Given the description of an element on the screen output the (x, y) to click on. 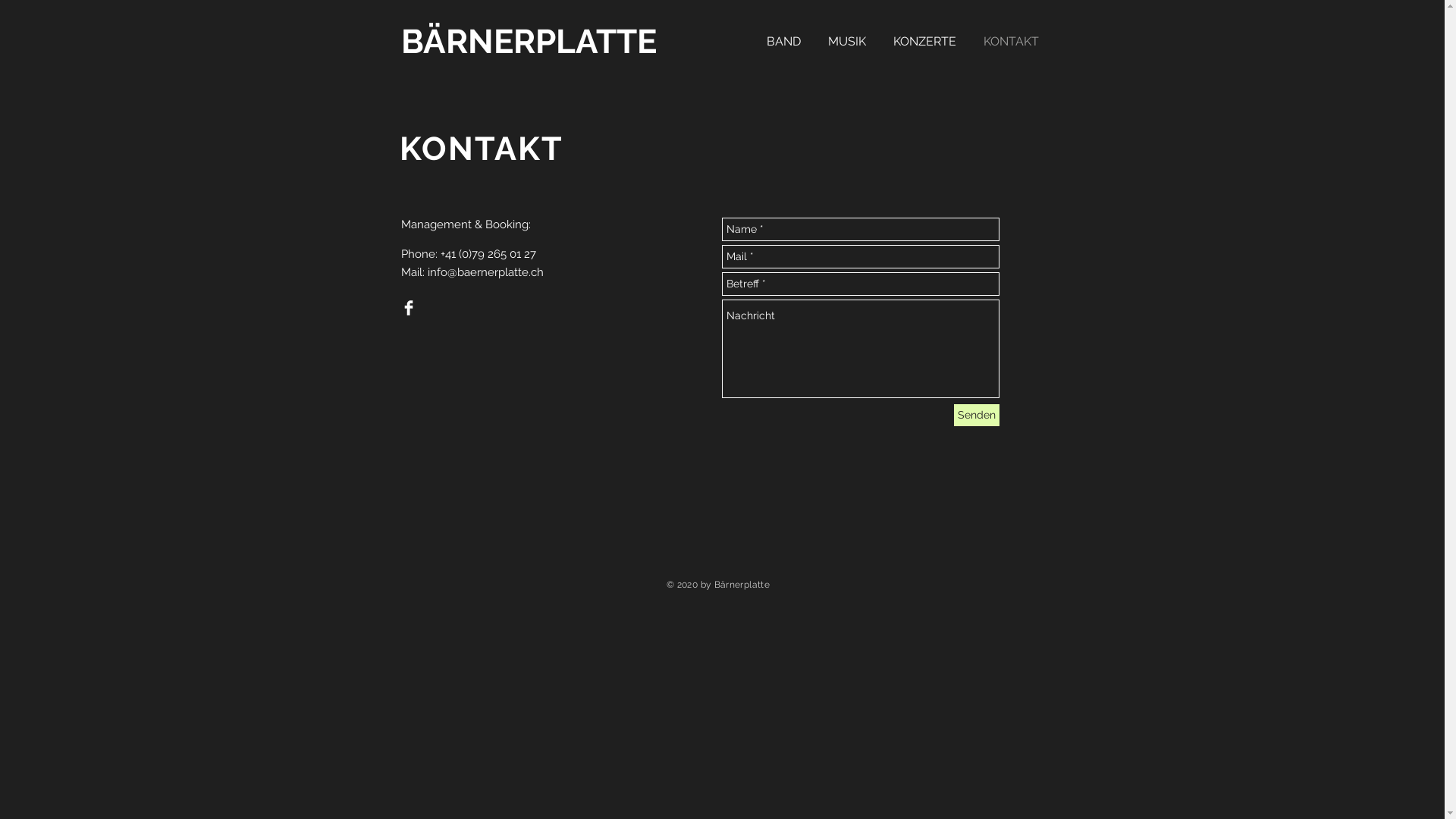
KONTAKT Element type: text (1016, 41)
MUSIK Element type: text (852, 41)
KONZERTE Element type: text (930, 41)
info@baernerplatte.ch Element type: text (485, 272)
BAND Element type: text (788, 41)
Senden Element type: text (976, 415)
